Given the description of an element on the screen output the (x, y) to click on. 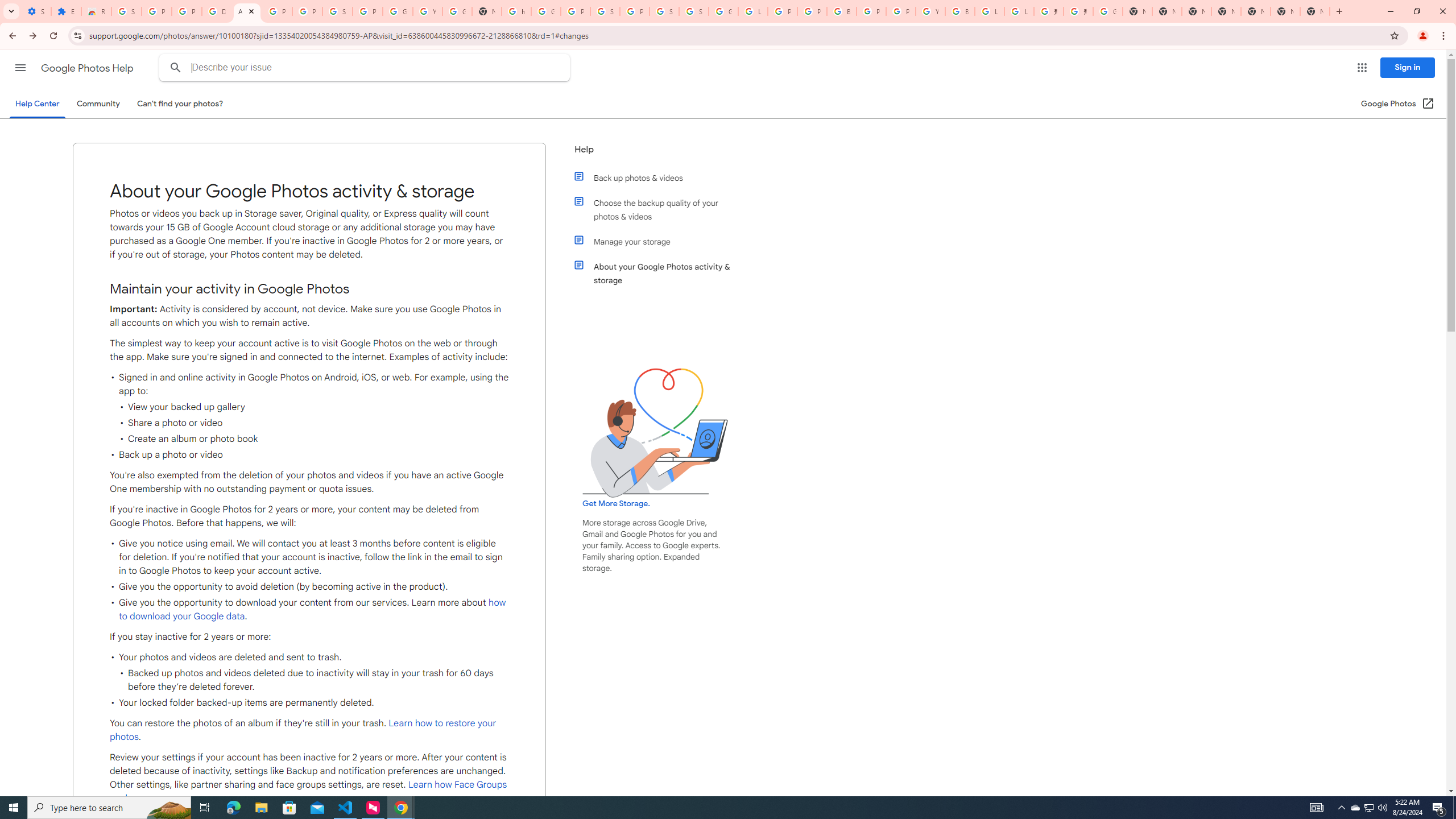
Reviews: Helix Fruit Jump Arcade Game (95, 11)
Sign in - Google Accounts (664, 11)
Learn how to restore your photos (302, 729)
Google Account (397, 11)
About your Google Photos activity & storage (661, 273)
Can't find your photos? (180, 103)
Sign in - Google Accounts (126, 11)
